Given the description of an element on the screen output the (x, y) to click on. 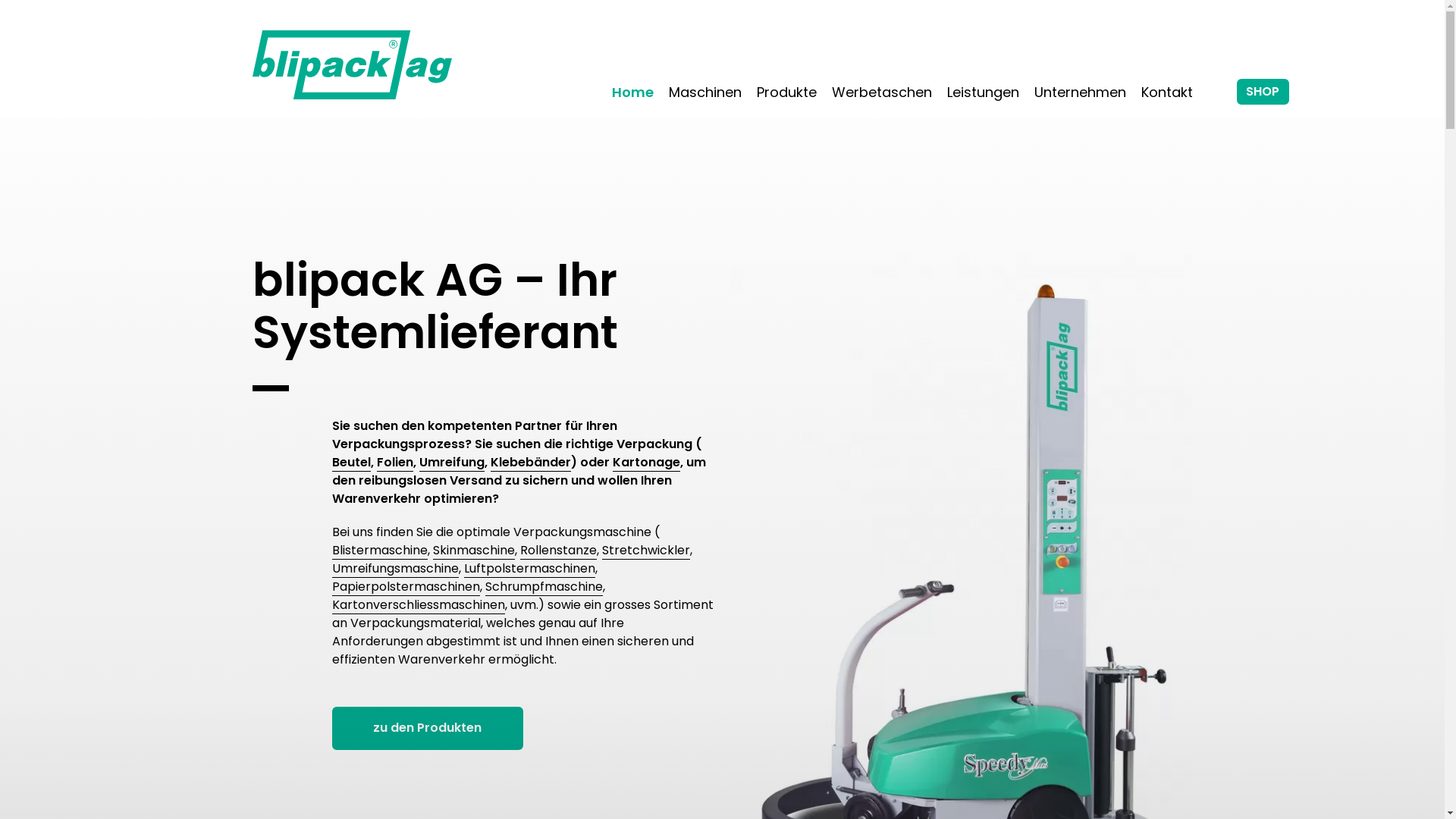
Luftpolstermaschinen Element type: text (529, 568)
Unternehmen Element type: text (1079, 91)
Werbetaschen Element type: text (880, 91)
Blistermaschine Element type: text (379, 550)
Papierpolstermaschinen Element type: text (406, 586)
Produkte Element type: text (786, 91)
Home Element type: text (631, 91)
Beutel Element type: text (351, 462)
Folien Element type: text (394, 462)
Kartonverschliessmaschinen Element type: text (418, 605)
Rollenstanze Element type: text (558, 550)
Stretchwickler Element type: text (646, 550)
Kontakt Element type: text (1165, 91)
zu den Produkten Element type: text (427, 727)
Leistungen Element type: text (982, 91)
Maschinen Element type: text (705, 91)
Umreifung Element type: text (450, 462)
Kartonage Element type: text (646, 462)
Umreifungsmaschine Element type: text (395, 568)
Schrumpfmaschine Element type: text (543, 586)
Skinmaschine Element type: text (473, 550)
SHOP Element type: text (1262, 91)
